Given the description of an element on the screen output the (x, y) to click on. 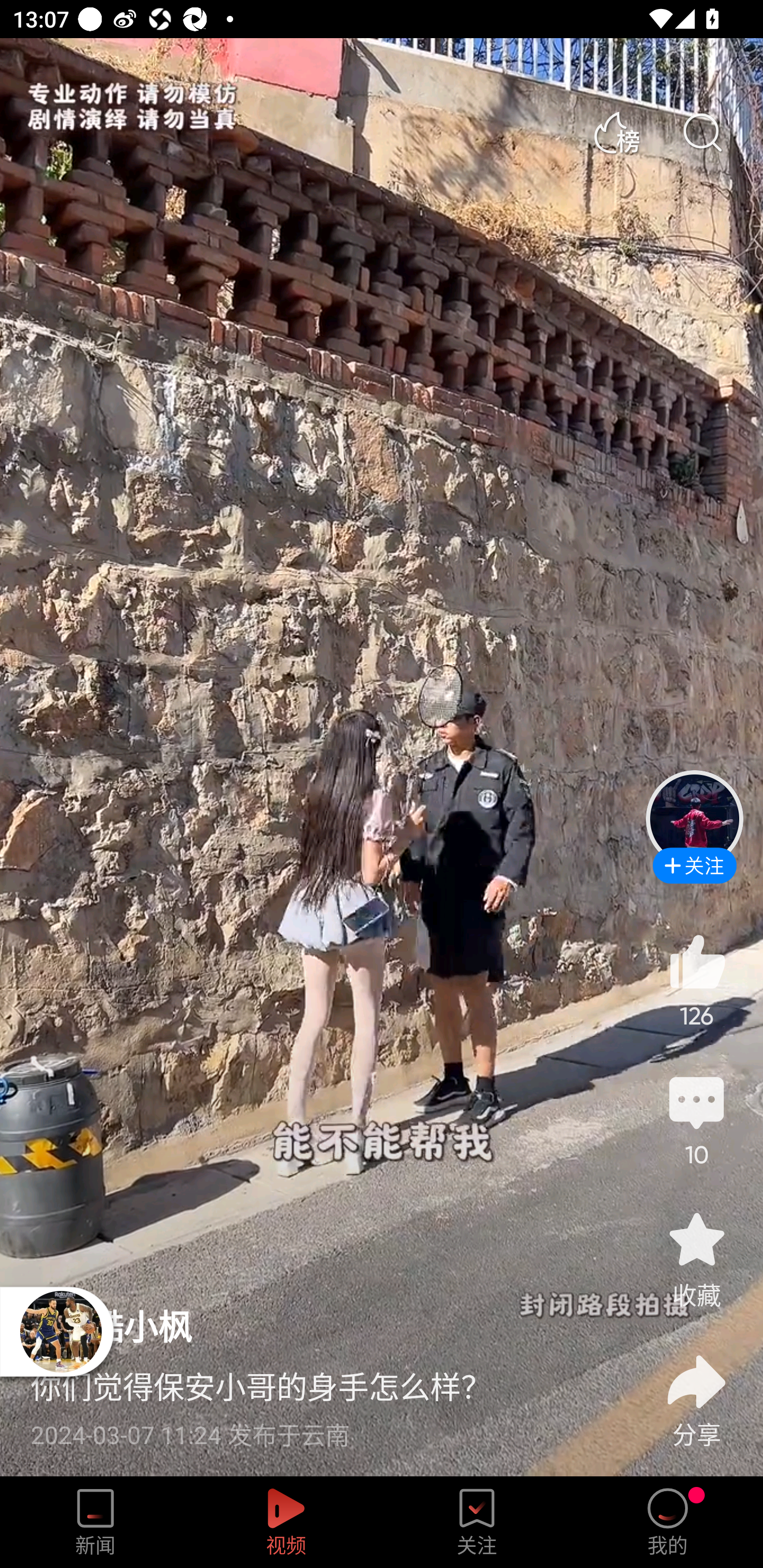
 热榜 (616, 133)
 搜索 (701, 133)
赞 126 (696, 979)
评论  10 (696, 1118)
收藏 (696, 1258)
播放器 (60, 1331)
分享  分享 (696, 1389)
你们觉得保安小哥的身手怎么样？ 2024-03-07 11:24 发布于云南 (321, 1399)
